Given the description of an element on the screen output the (x, y) to click on. 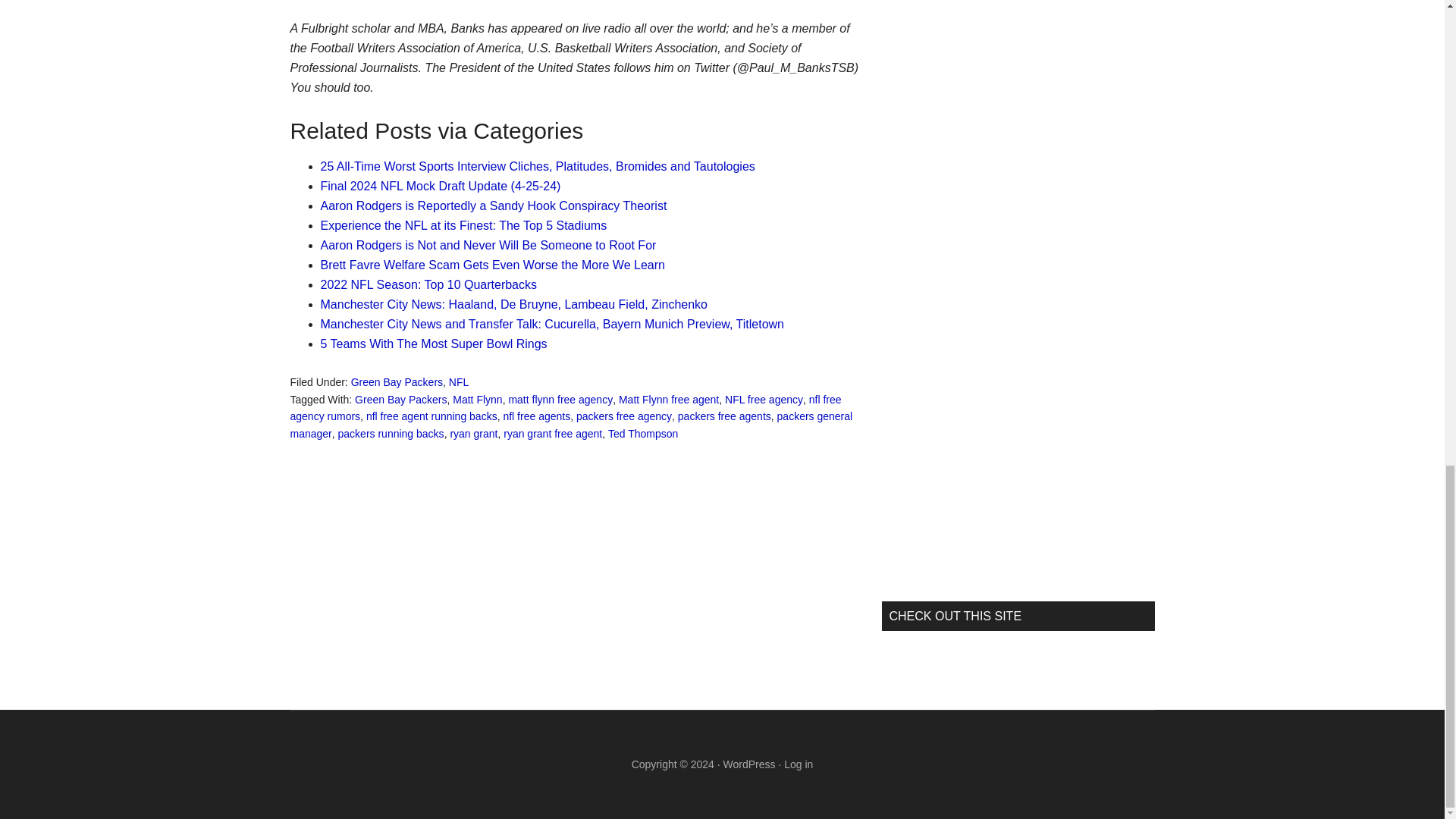
Aaron Rodgers is Reportedly a Sandy Hook Conspiracy Theorist (493, 205)
Aaron Rodgers is Not and Never Will Be Someone to Root For (488, 245)
Green Bay Packers (400, 398)
Aaron Rodgers is Reportedly a Sandy Hook Conspiracy Theorist (493, 205)
Green Bay Packers (396, 381)
Brett Favre Welfare Scam Gets Even Worse the More We Learn (491, 264)
5 Teams With The Most Super Bowl Rings (433, 343)
Experience the NFL at its Finest: The Top 5 Stadiums (463, 225)
